Given the description of an element on the screen output the (x, y) to click on. 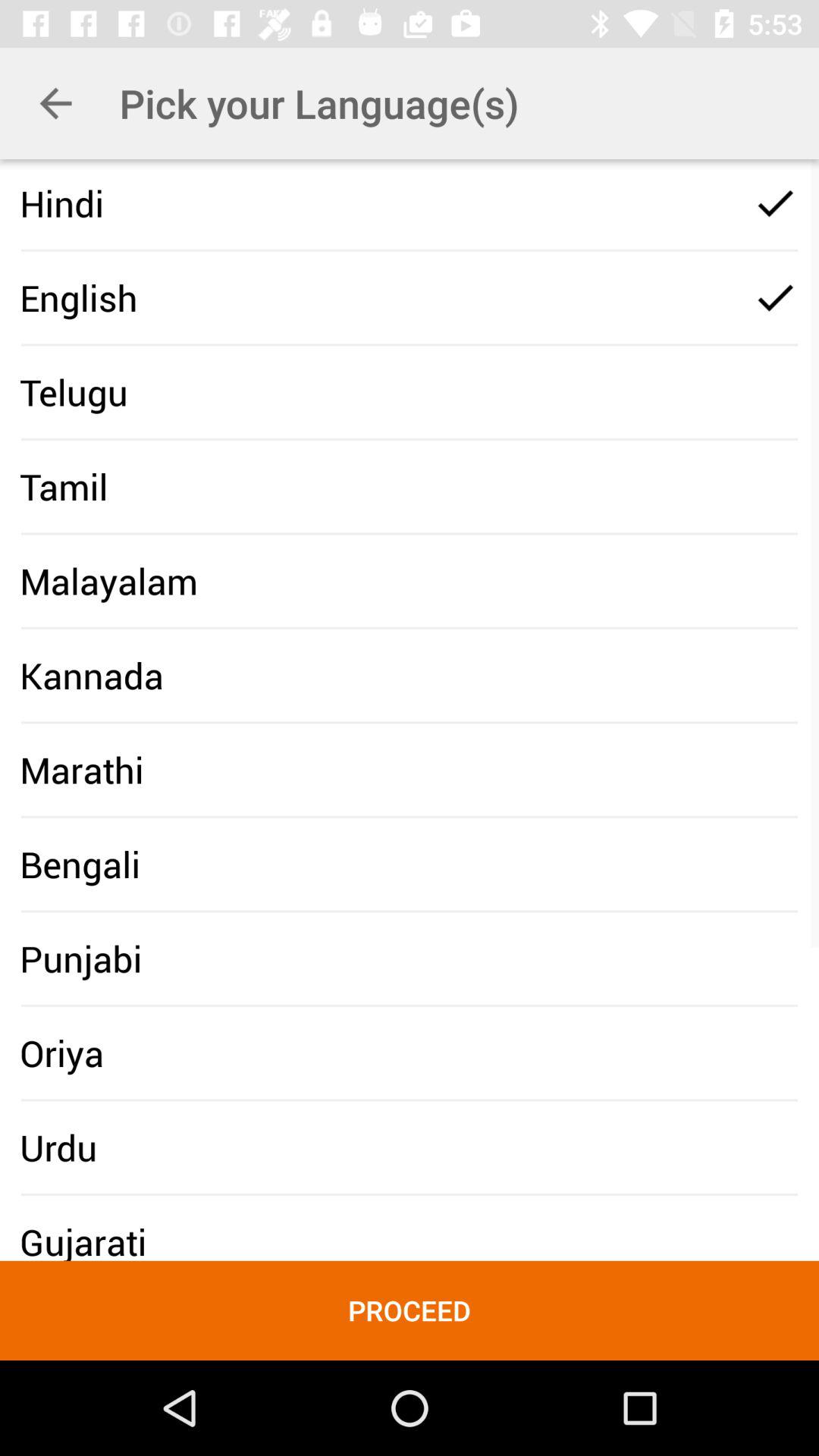
choose the item below urdu icon (409, 1310)
